Given the description of an element on the screen output the (x, y) to click on. 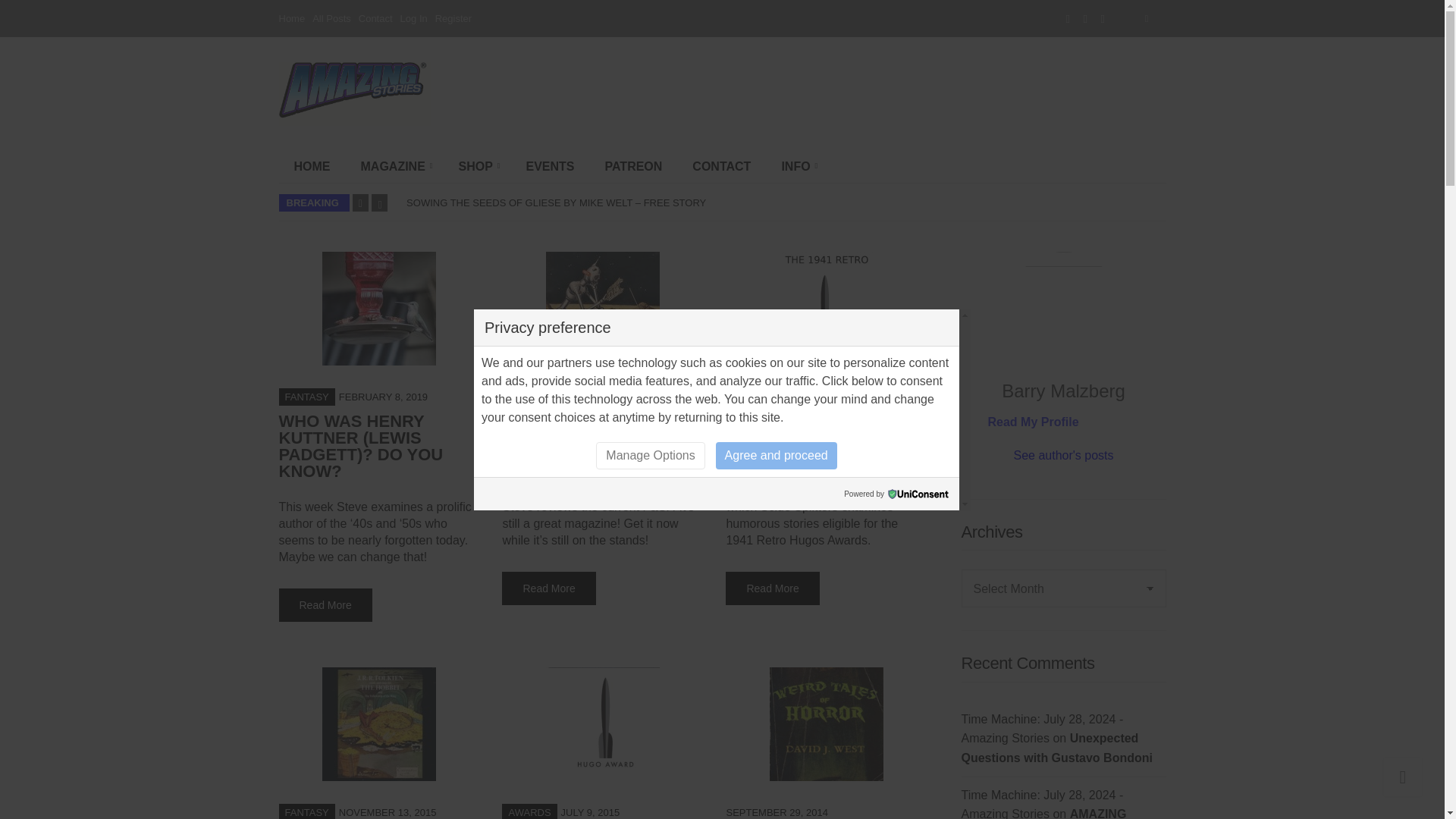
Facebook (1068, 18)
EVENTS (550, 166)
Home (292, 18)
Log In (414, 18)
INFO (796, 166)
GDPR CMP - Cookie Consent Manager (918, 493)
All Posts (331, 18)
Contact (375, 18)
Advertisement (874, 93)
Register (453, 18)
PATREON (633, 166)
GDPR CMP - Cookie Consent Manager (918, 493)
MAGAZINE (395, 166)
Twitter (1085, 18)
SHOP (476, 166)
